Given the description of an element on the screen output the (x, y) to click on. 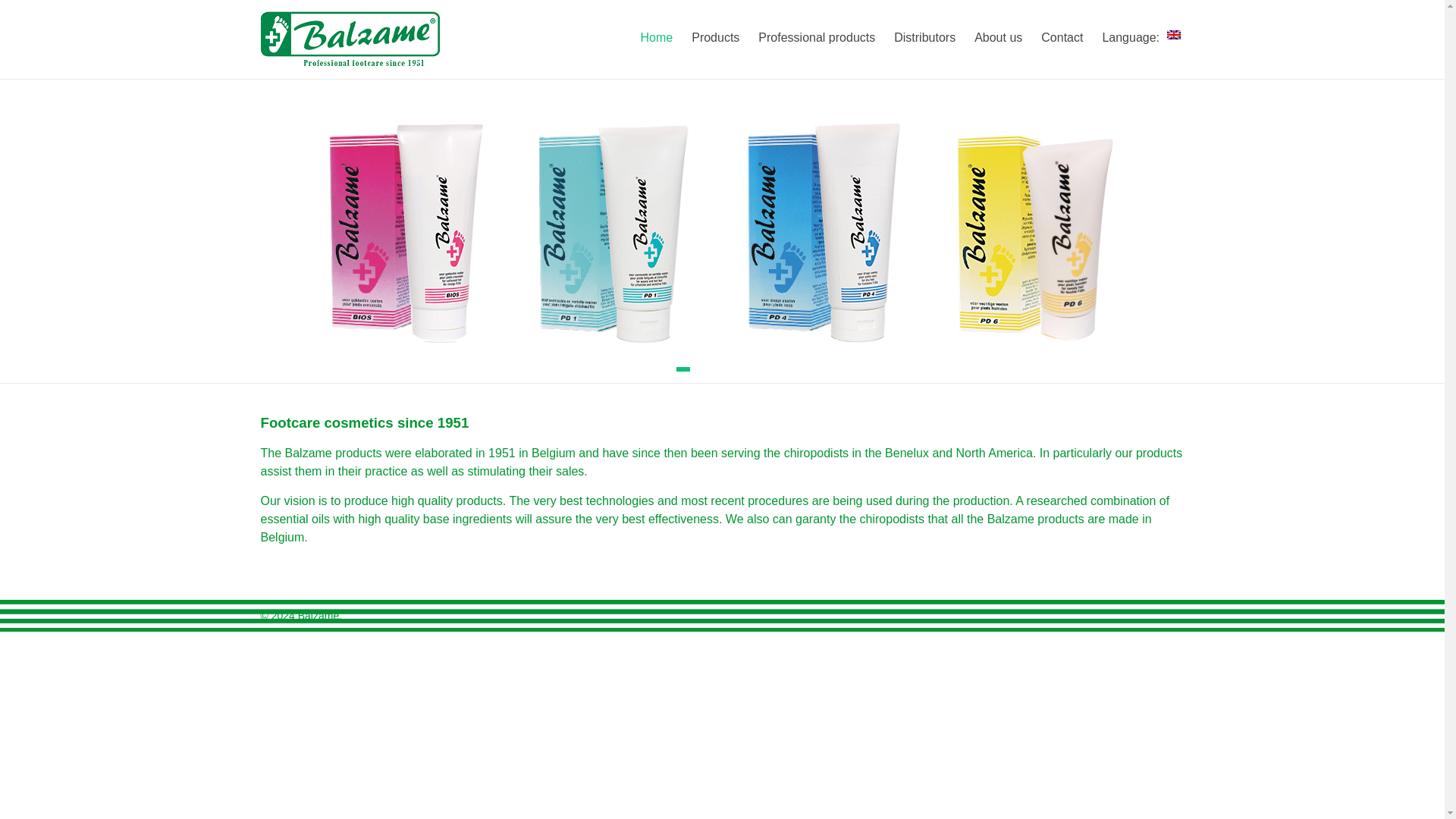
About us (998, 37)
Balzame (312, 30)
Home (656, 37)
Contact (1062, 37)
Balzame (312, 30)
Products (715, 37)
English (1142, 37)
Language:  (1142, 37)
Professional products (816, 37)
Distributors (924, 37)
